Given the description of an element on the screen output the (x, y) to click on. 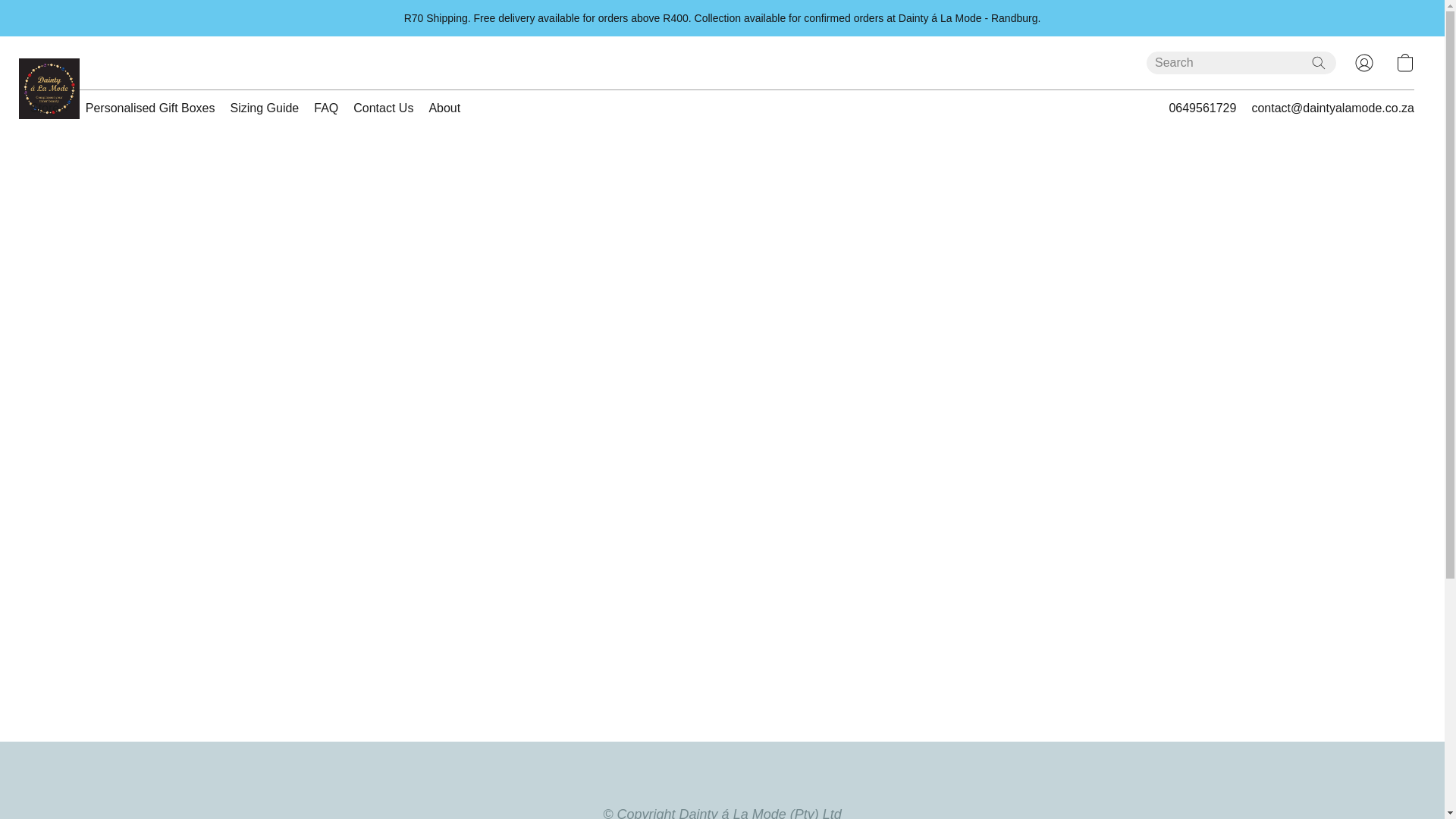
Store (54, 108)
0649561729 (1202, 107)
Contact Us (383, 108)
Go to your shopping cart (1404, 62)
Personalised Gift Boxes (150, 108)
FAQ (325, 108)
About (440, 108)
Sizing Guide (264, 108)
